Given the description of an element on the screen output the (x, y) to click on. 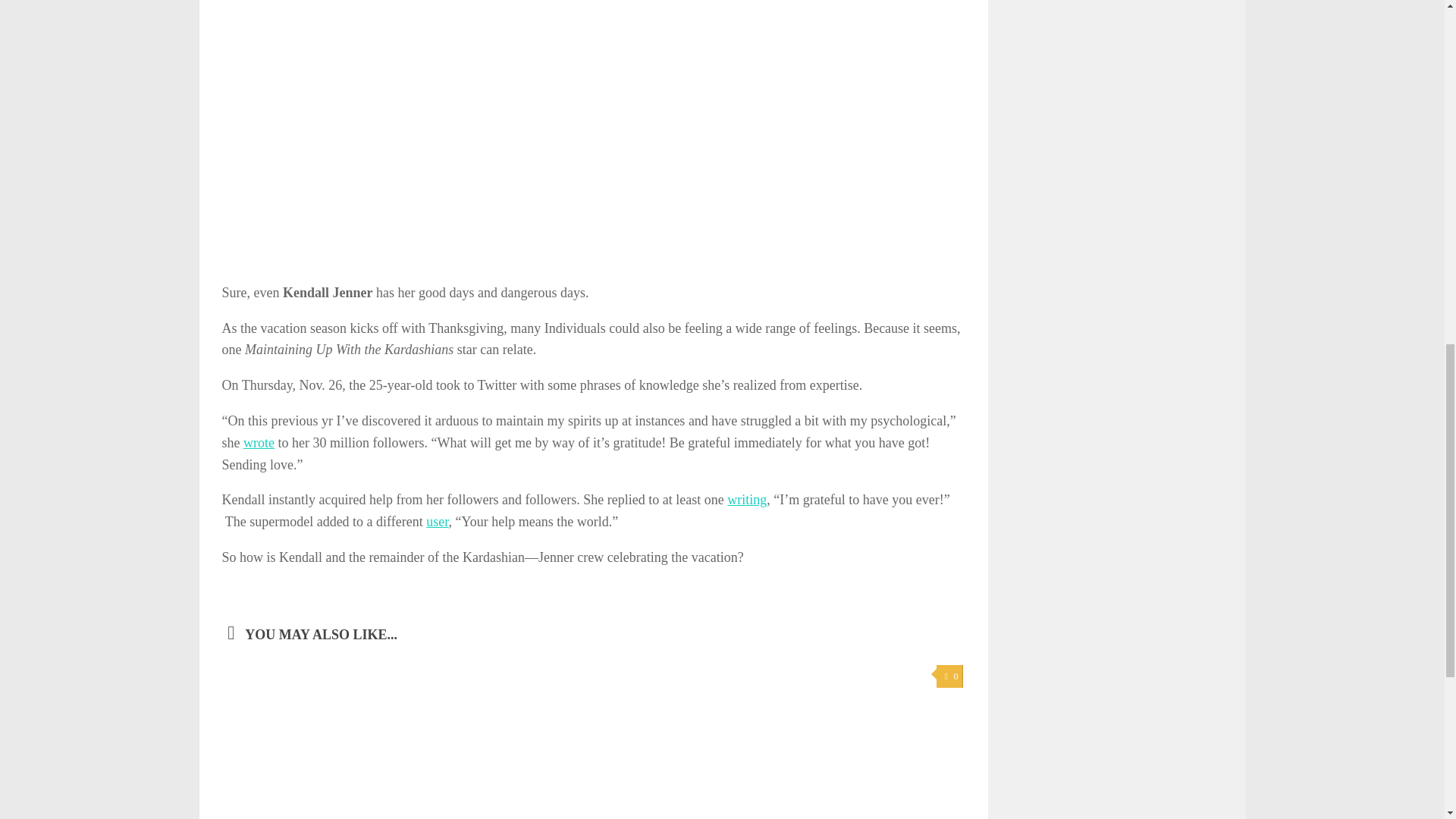
user (437, 521)
writing (746, 499)
wrote (259, 442)
0 (949, 676)
